Given the description of an element on the screen output the (x, y) to click on. 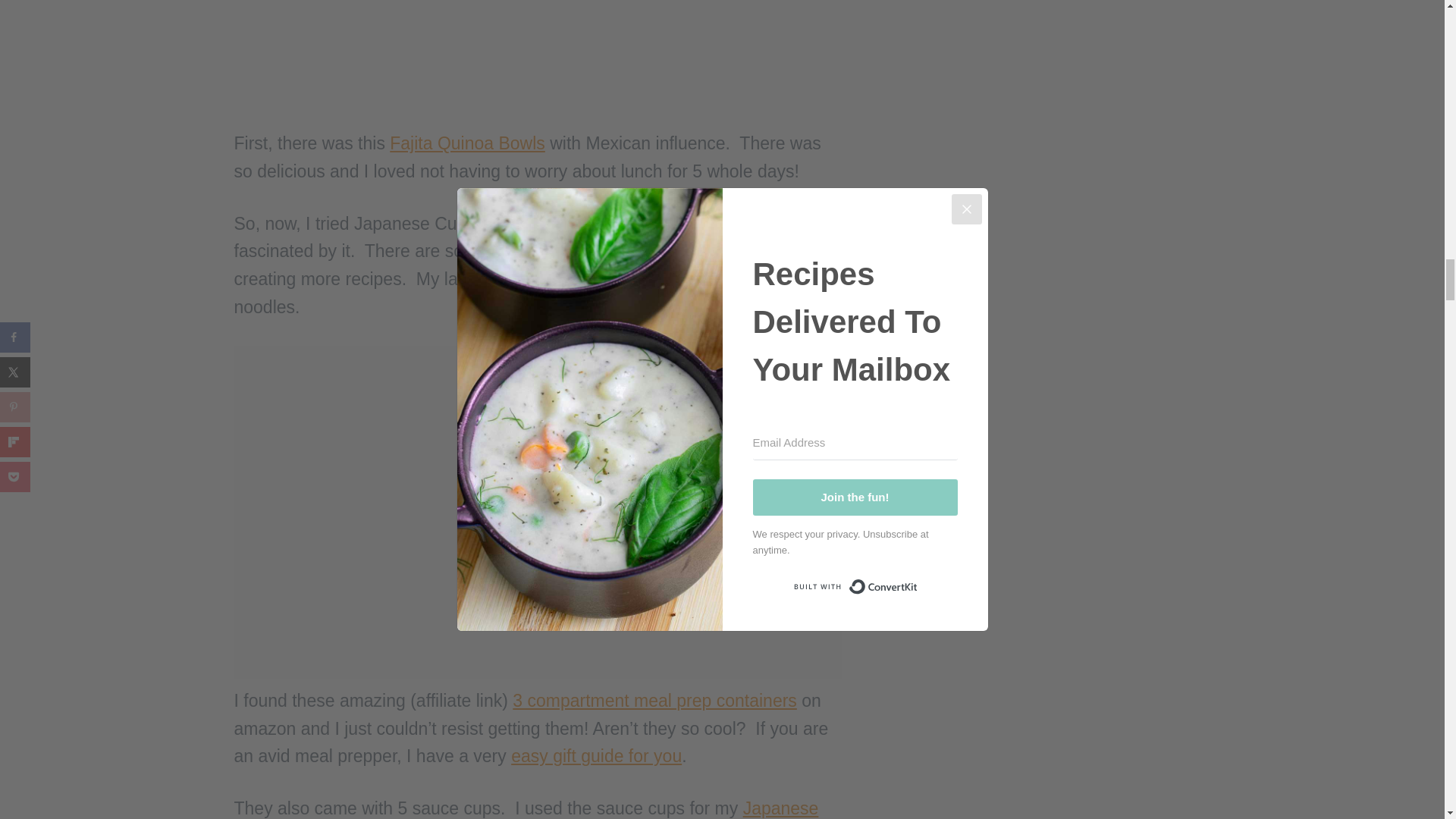
Fajita Quinoa Bowls (467, 143)
3 compartment meal prep containers (654, 700)
spicy orange tofu (673, 279)
Japanese Cucumber Salad (525, 808)
easy gift guide for you (596, 755)
